Given the description of an element on the screen output the (x, y) to click on. 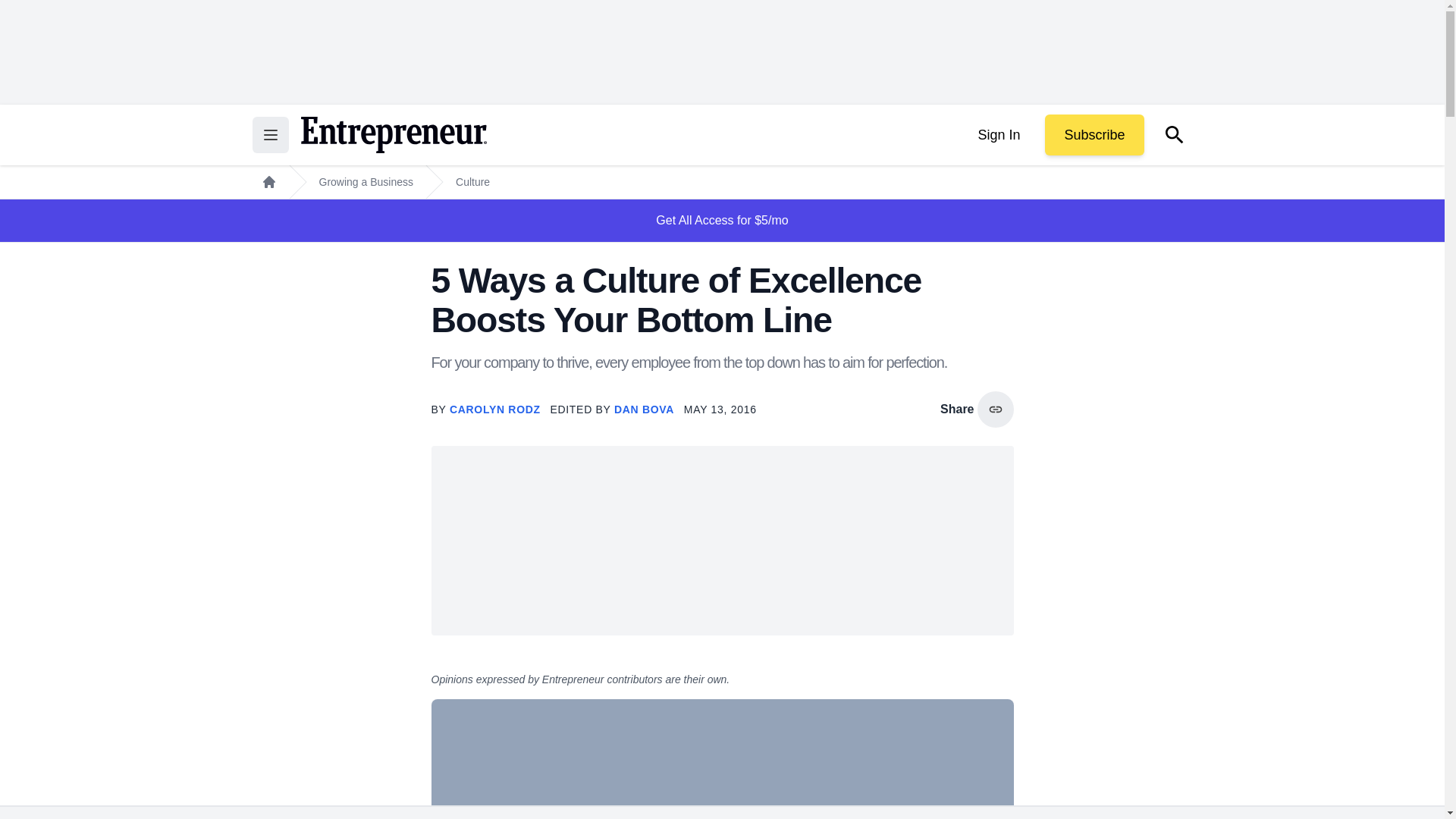
Subscribe (1093, 134)
Return to the home page (392, 135)
copy (994, 409)
Sign In (998, 134)
